Given the description of an element on the screen output the (x, y) to click on. 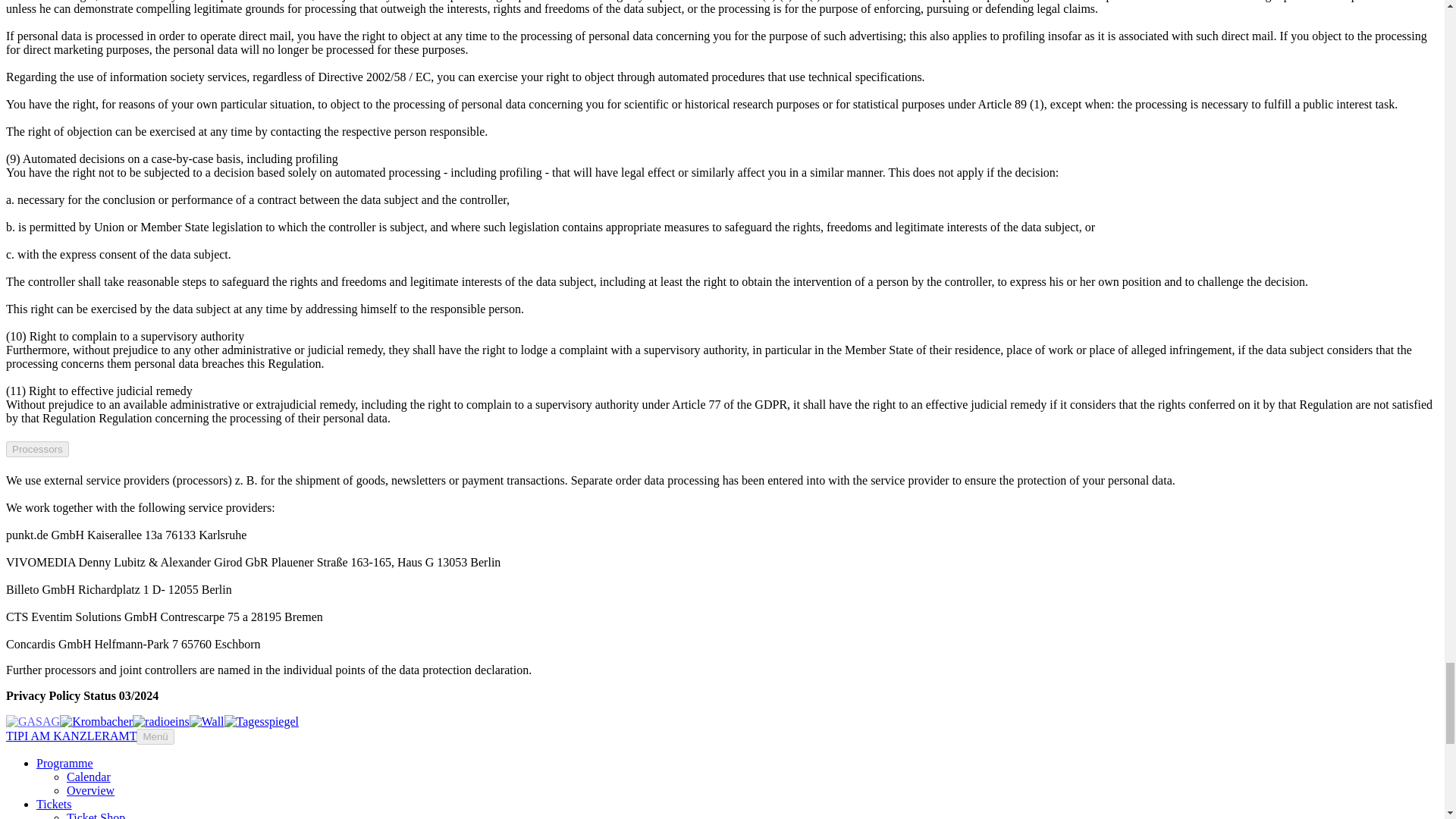
Wall (206, 721)
Krombacher (95, 721)
radioeins (160, 721)
GASAG (32, 721)
Tagesspiegel (261, 721)
